Given the description of an element on the screen output the (x, y) to click on. 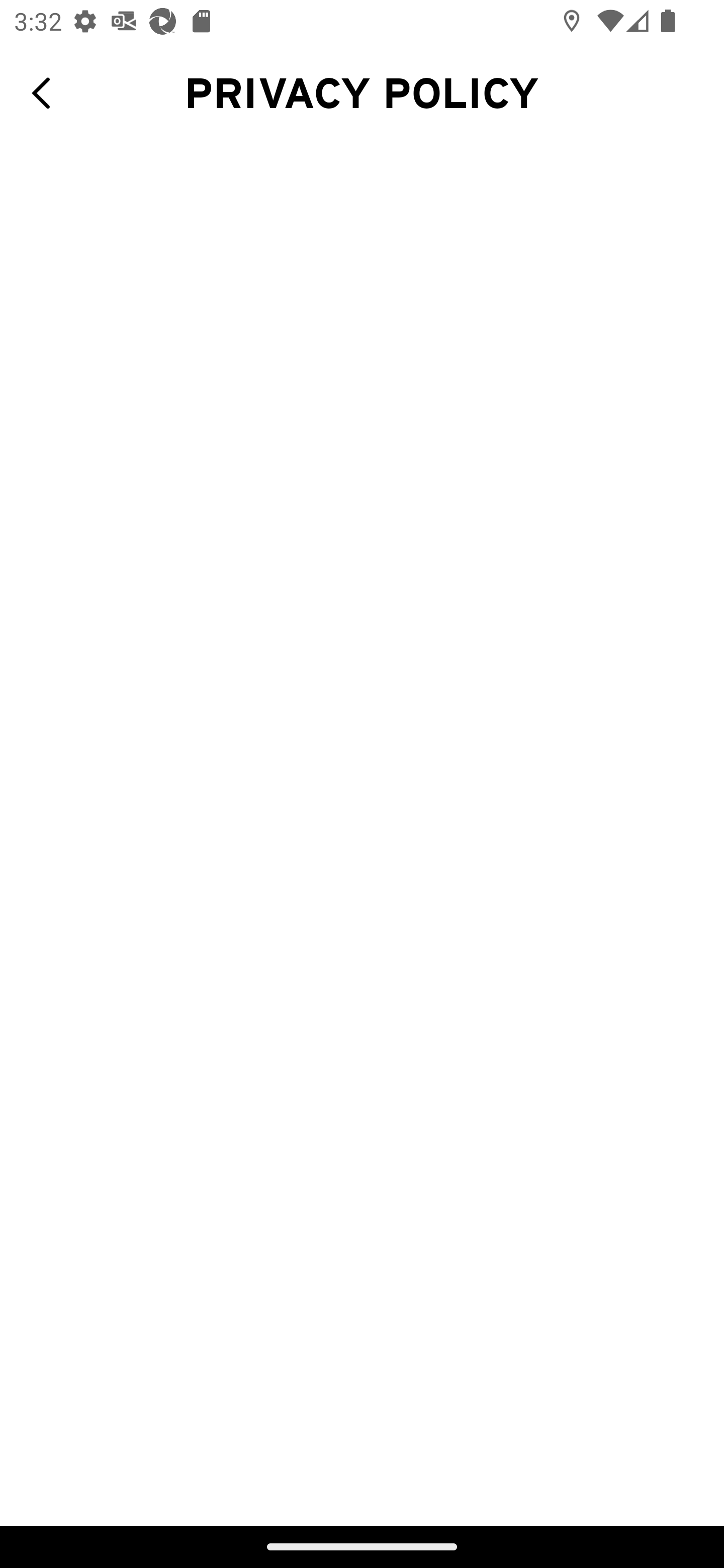
Close page. (48, 93)
